Given the description of an element on the screen output the (x, y) to click on. 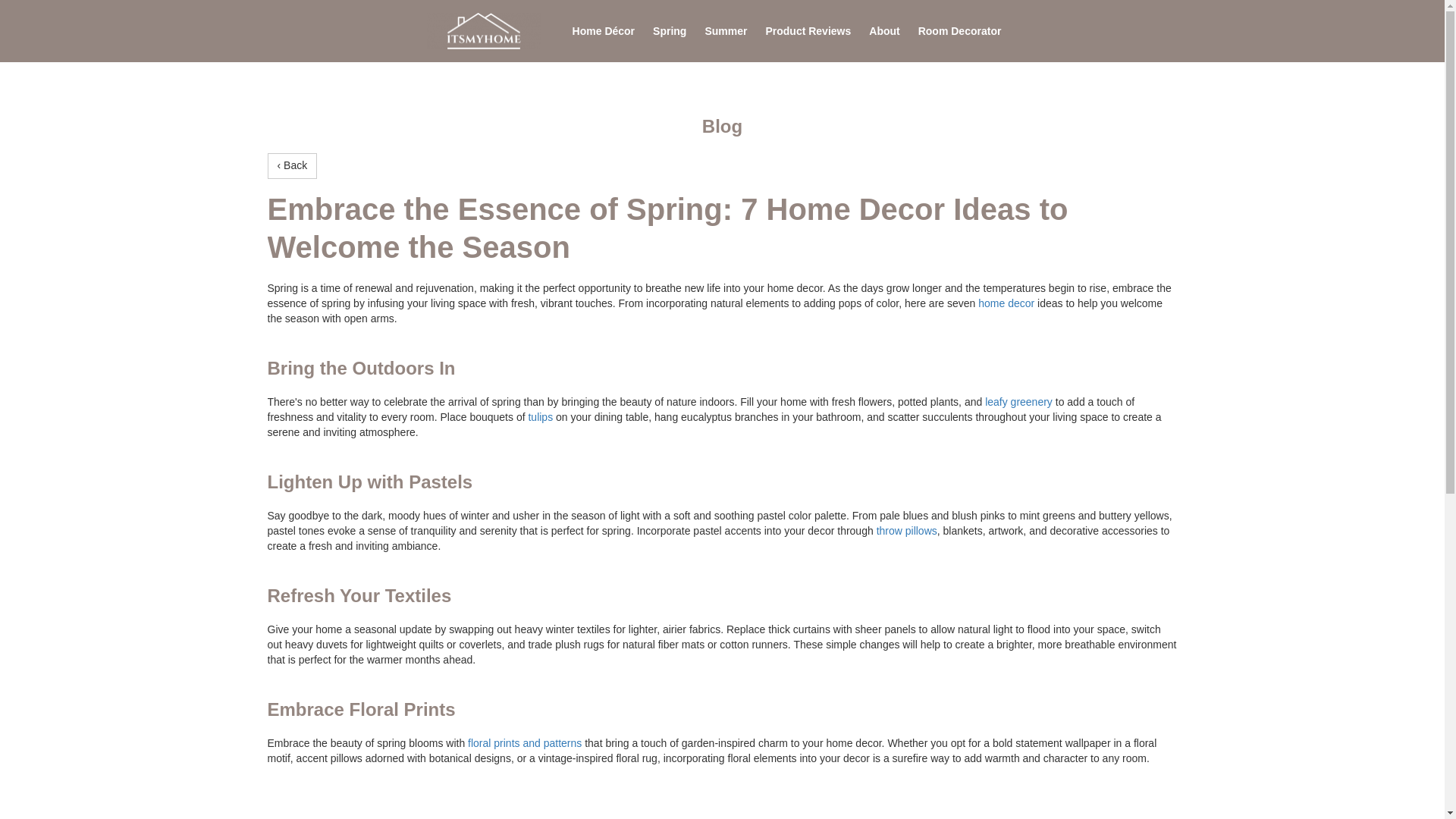
About (884, 30)
Product Reviews (806, 30)
tulips (540, 417)
Room Decorator (960, 30)
itsmyhome logo (483, 31)
floral prints (523, 743)
throw pillow covers (906, 530)
Spring Decor (1005, 303)
tulips (540, 417)
leafy greenery (1018, 401)
leafy greenery (1018, 401)
throw pillows (906, 530)
home decor (1005, 303)
Summer (725, 30)
Spring (668, 30)
